Given the description of an element on the screen output the (x, y) to click on. 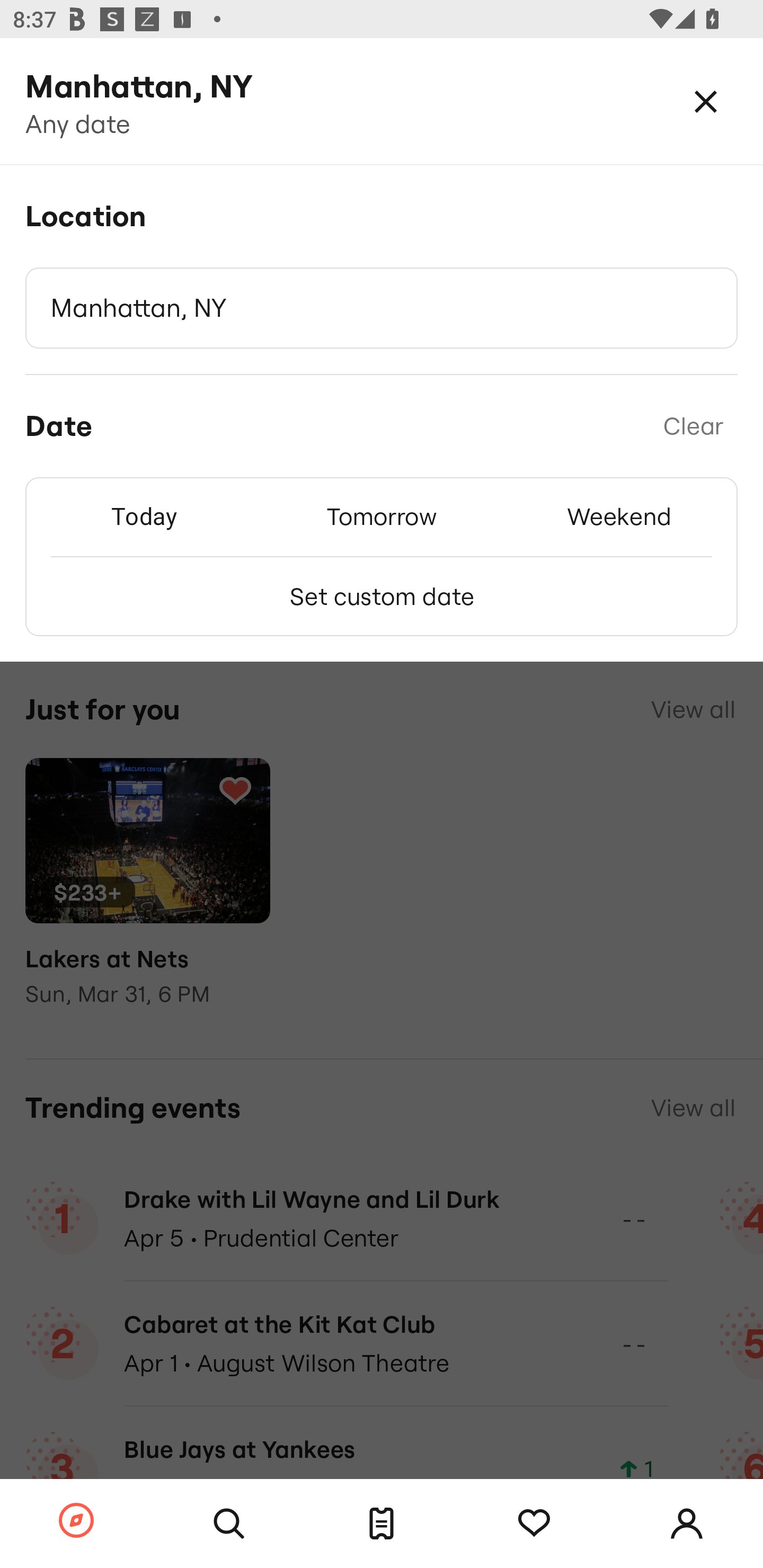
Close (705, 100)
Manhattan, NY (381, 308)
Clear (693, 426)
Today (143, 516)
Tomorrow (381, 516)
Weekend (618, 516)
Set custom date (381, 596)
Browse (76, 1521)
Search (228, 1523)
Tickets (381, 1523)
Tracking (533, 1523)
Account (686, 1523)
